Given the description of an element on the screen output the (x, y) to click on. 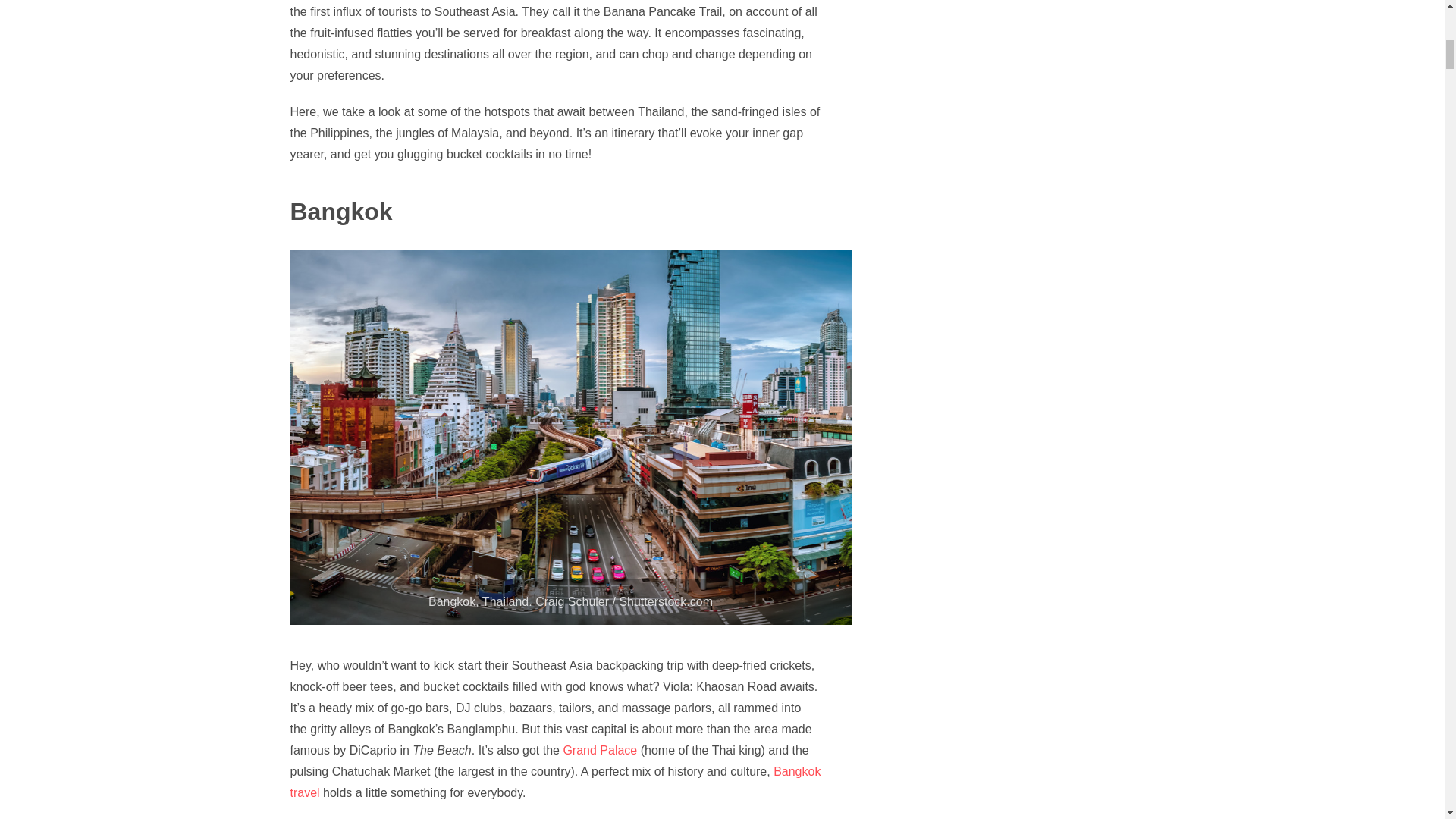
Bangkok (340, 211)
Continue with email (721, 340)
Grand Palace (598, 749)
Continue with Google (721, 302)
Bangkok travel (555, 781)
